Given the description of an element on the screen output the (x, y) to click on. 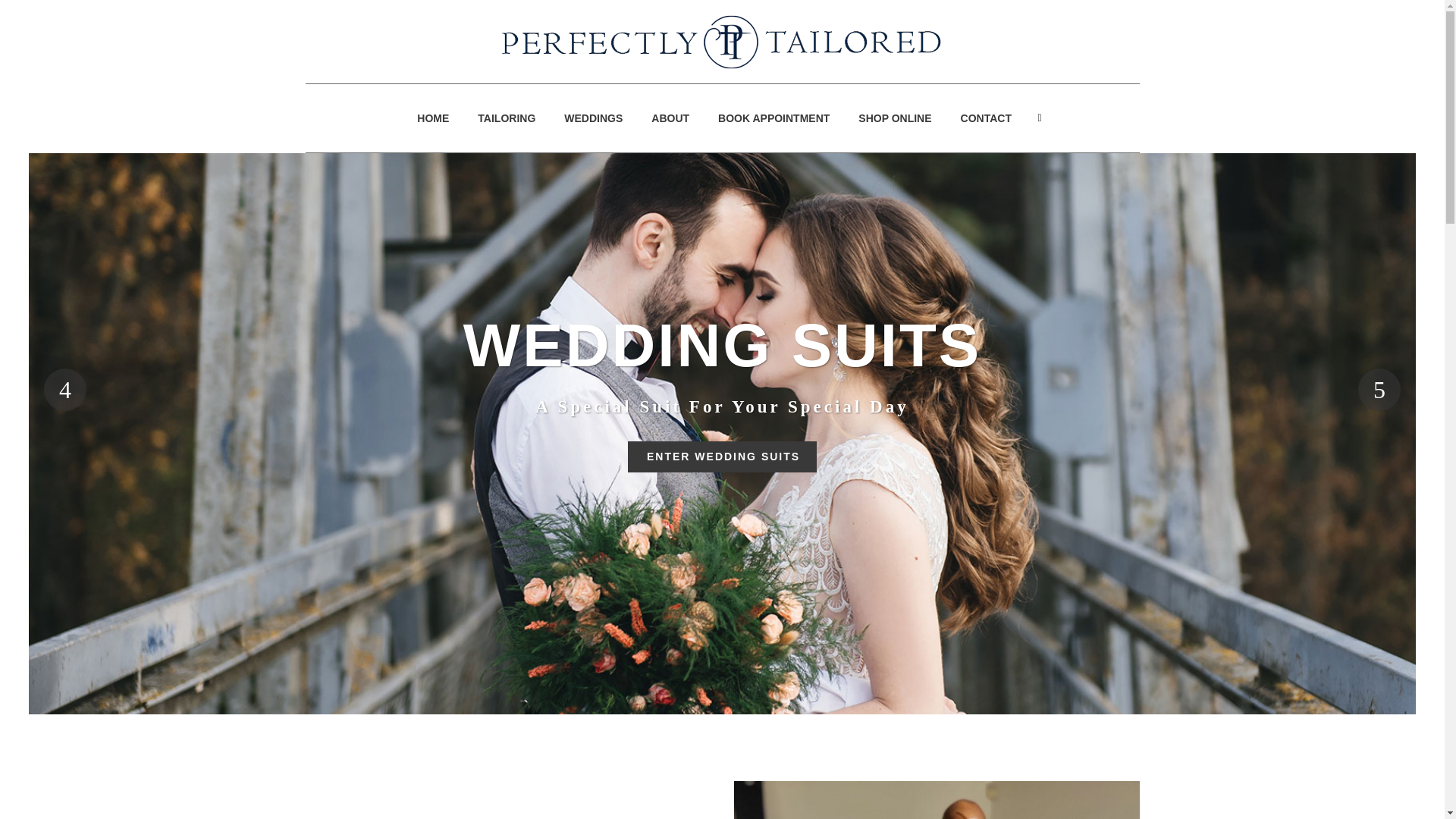
HOME (433, 118)
WEDDINGS (593, 118)
TAILORING (506, 118)
BOOK APPOINTMENT (773, 118)
ABOUT (670, 118)
CONTACT (986, 118)
3 piece tweed suit (936, 800)
SHOP ONLINE (894, 118)
